Given the description of an element on the screen output the (x, y) to click on. 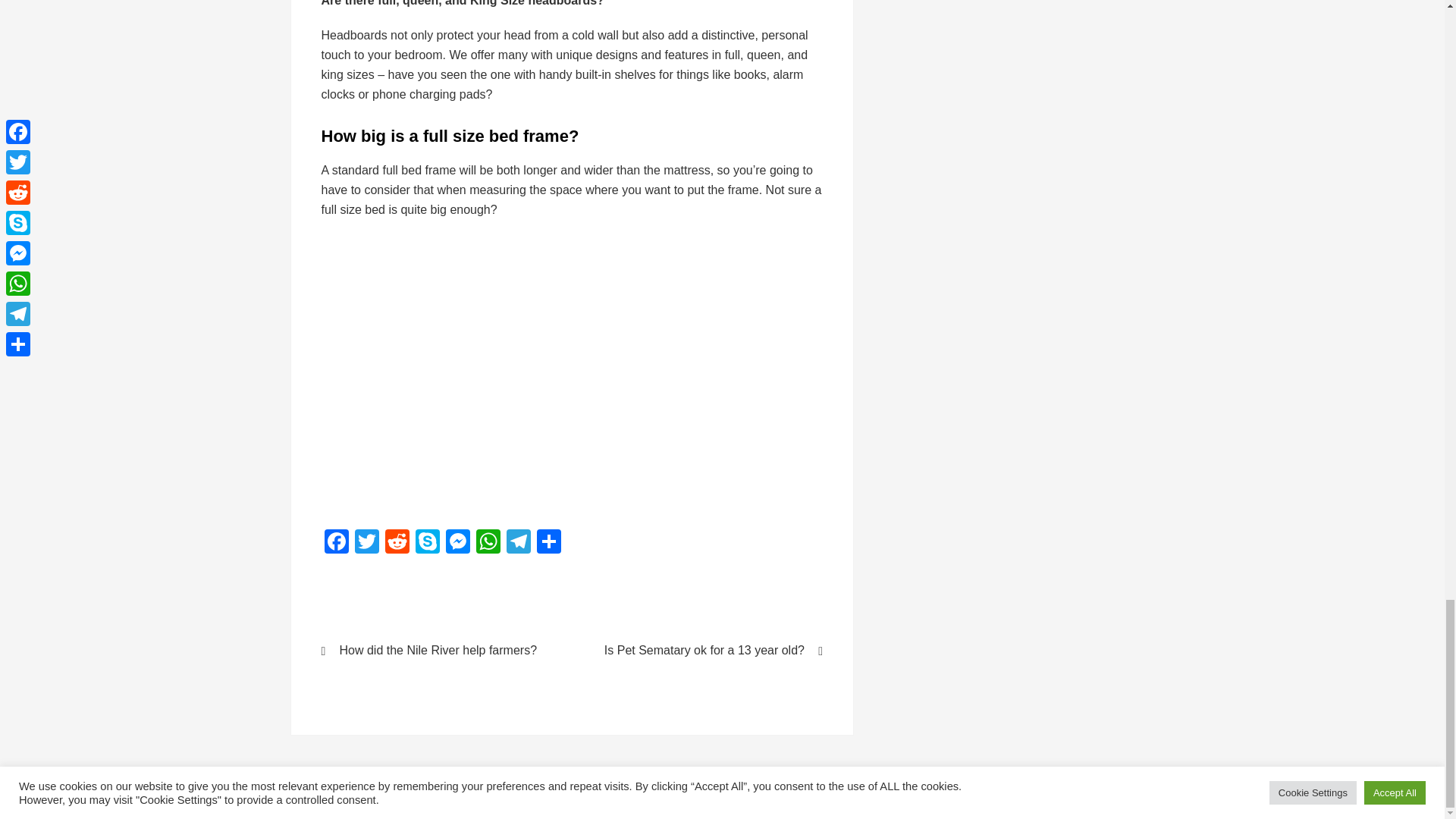
Twitter (366, 543)
Messenger (457, 543)
Skype (427, 543)
Twitter (366, 543)
Reddit (396, 543)
Messenger (457, 543)
WhatsApp (488, 543)
WhatsApp (488, 543)
Facebook (336, 543)
BasePress - The best free WordPress blog theme for WordPress (716, 797)
Reddit (396, 543)
Telegram (518, 543)
Facebook (336, 543)
How did the Nile River help farmers? (436, 650)
Is Pet Sematary ok for a 13 year old? (707, 650)
